Given the description of an element on the screen output the (x, y) to click on. 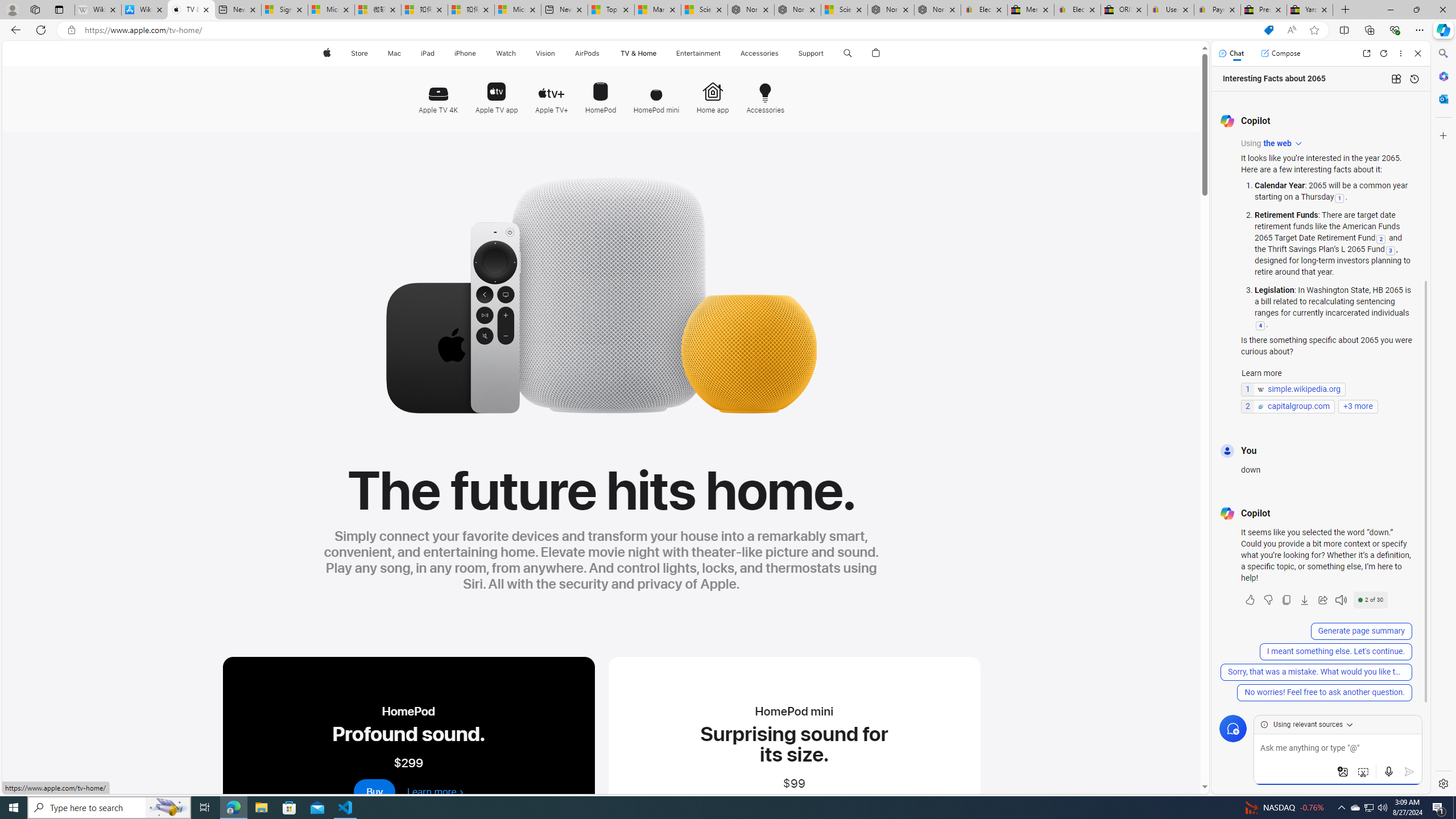
TV & Home - Apple (191, 9)
Mac (394, 53)
Watch (506, 53)
Home app (712, 93)
Apple TV app (496, 92)
Store (359, 53)
HomePod (600, 93)
buy - homepod 2nd generation (374, 791)
TV and Home menu (658, 53)
Wikipedia - Sleeping (97, 9)
Microsoft Services Agreement (330, 9)
